Given the description of an element on the screen output the (x, y) to click on. 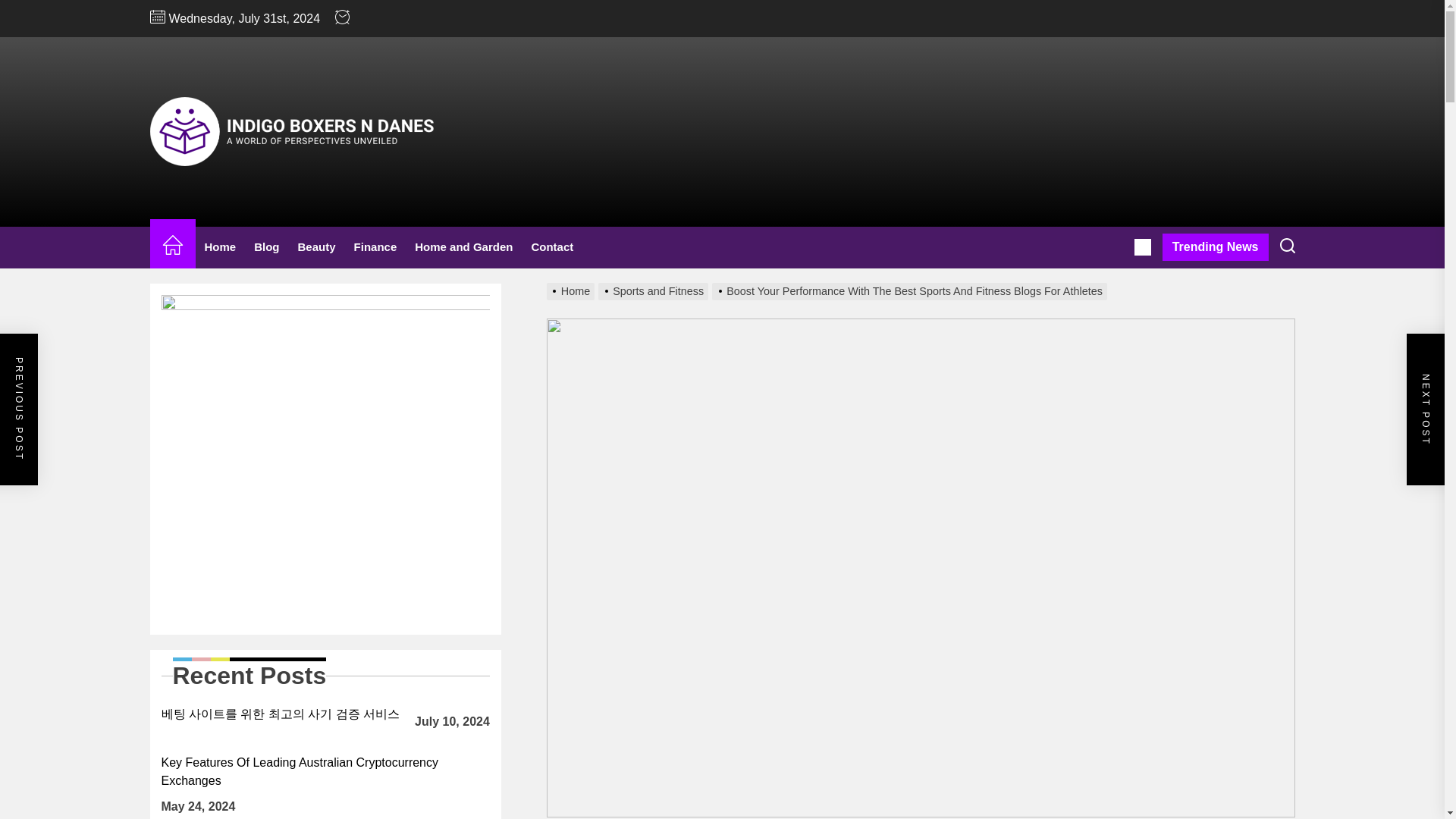
Contact (551, 247)
Home (172, 247)
Home (220, 247)
Trending News (1214, 247)
Finance (375, 247)
Blog (266, 247)
Home and Garden (463, 247)
Beauty (316, 247)
